Given the description of an element on the screen output the (x, y) to click on. 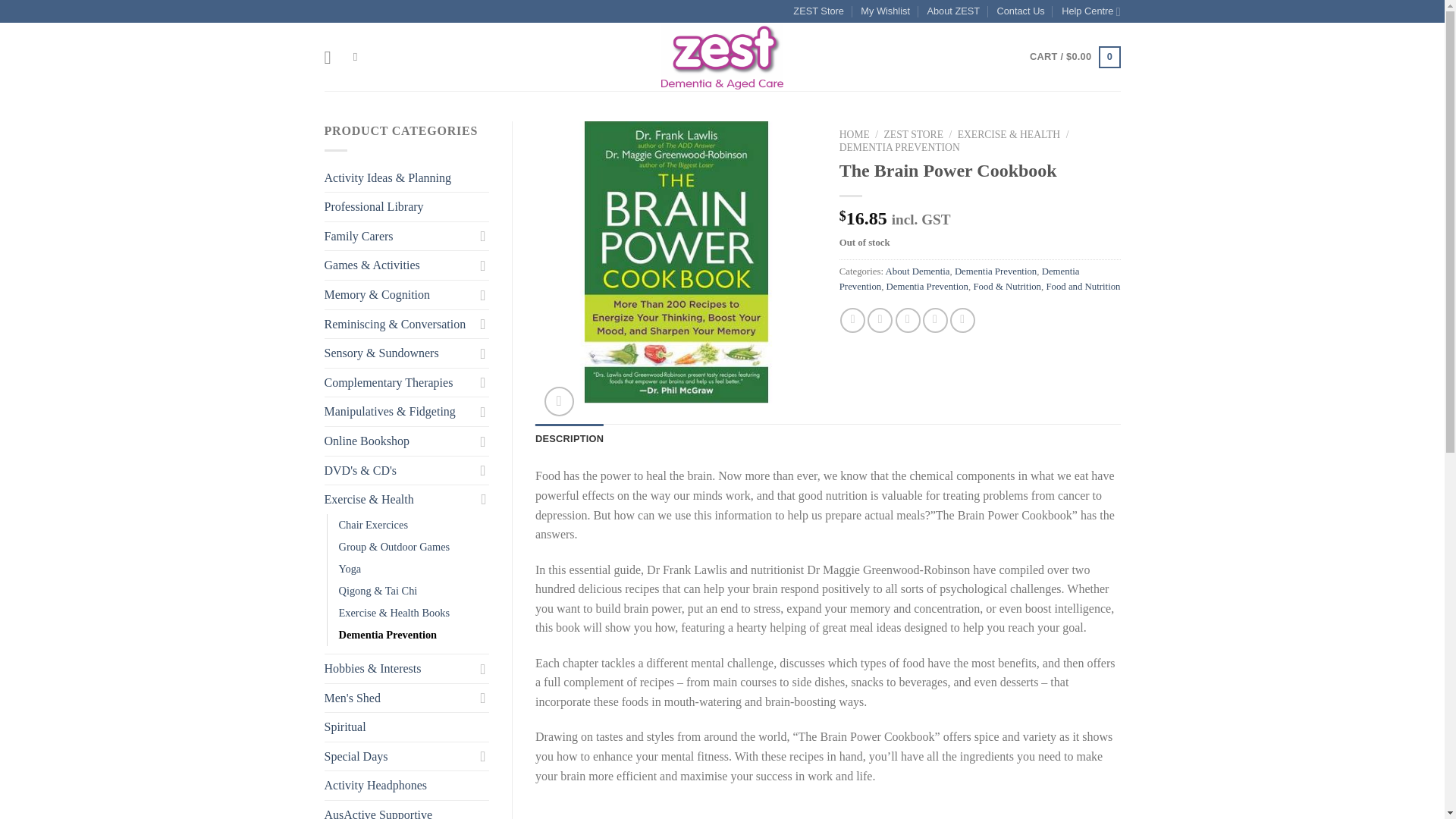
Email to a Friend (907, 319)
Share on Twitter (879, 319)
Help Centre (1090, 11)
Pin on Pinterest (935, 319)
About ZEST (952, 11)
Cart (1074, 57)
Family Carers (399, 235)
My Wishlist (885, 11)
Contact Us (1019, 11)
Professional Library (406, 206)
